Given the description of an element on the screen output the (x, y) to click on. 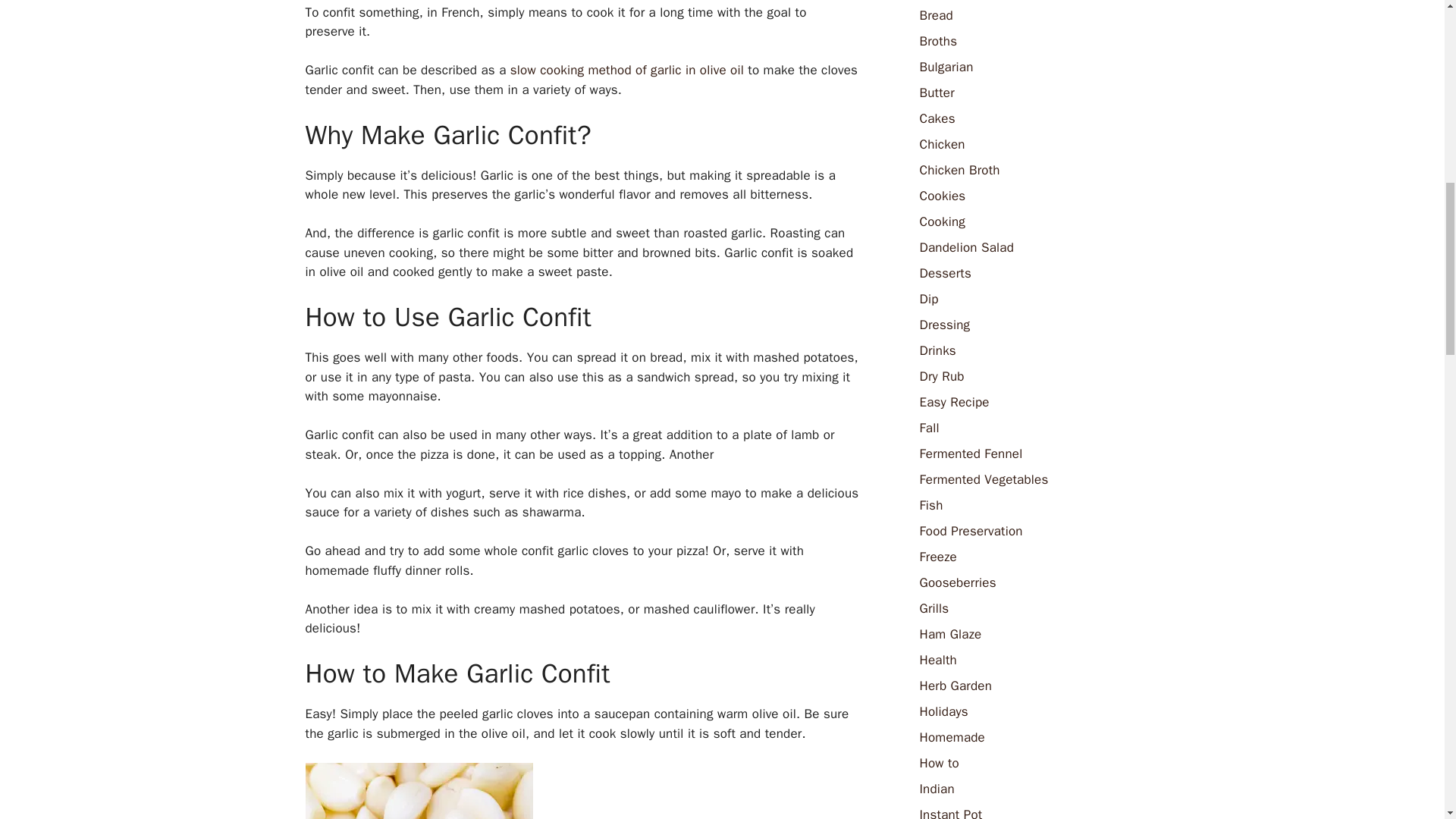
slow cooking method of garlic in olive oil (627, 69)
